Given the description of an element on the screen output the (x, y) to click on. 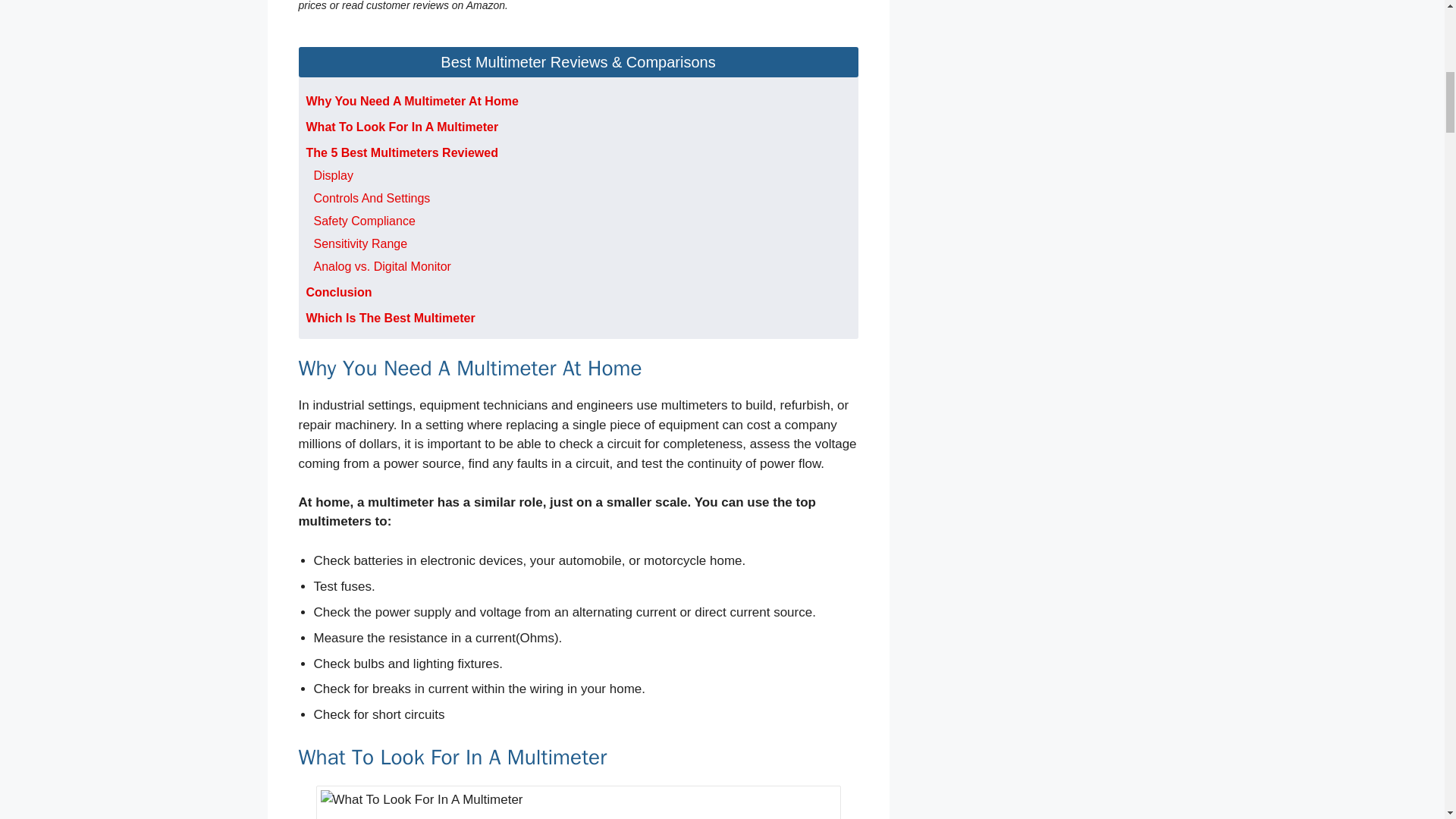
What To Look For In A Multimeter (402, 126)
Controls And Settings (372, 197)
Safety Compliance (364, 220)
Why You Need A Multimeter At Home (411, 101)
Conclusion (338, 291)
The 5 Best Multimeters Reviewed (401, 152)
Sensitivity Range (360, 243)
Analog vs. Digital Monitor (382, 266)
Which Is The Best Multimeter (390, 318)
Display (333, 174)
